Given the description of an element on the screen output the (x, y) to click on. 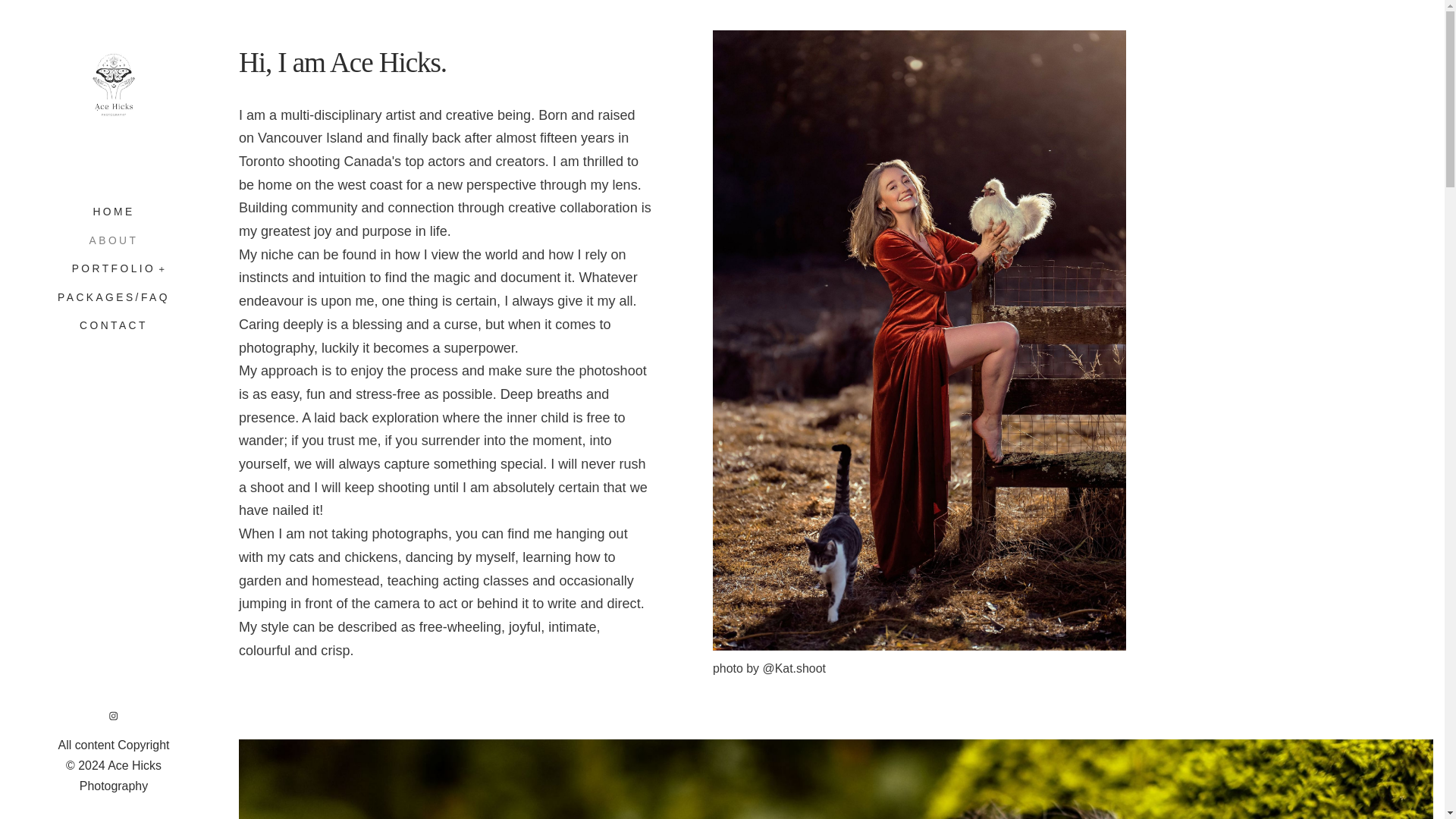
PORTFOLIO (113, 267)
HOME (113, 215)
ABOUT (113, 239)
CONTACT (114, 321)
